Given the description of an element on the screen output the (x, y) to click on. 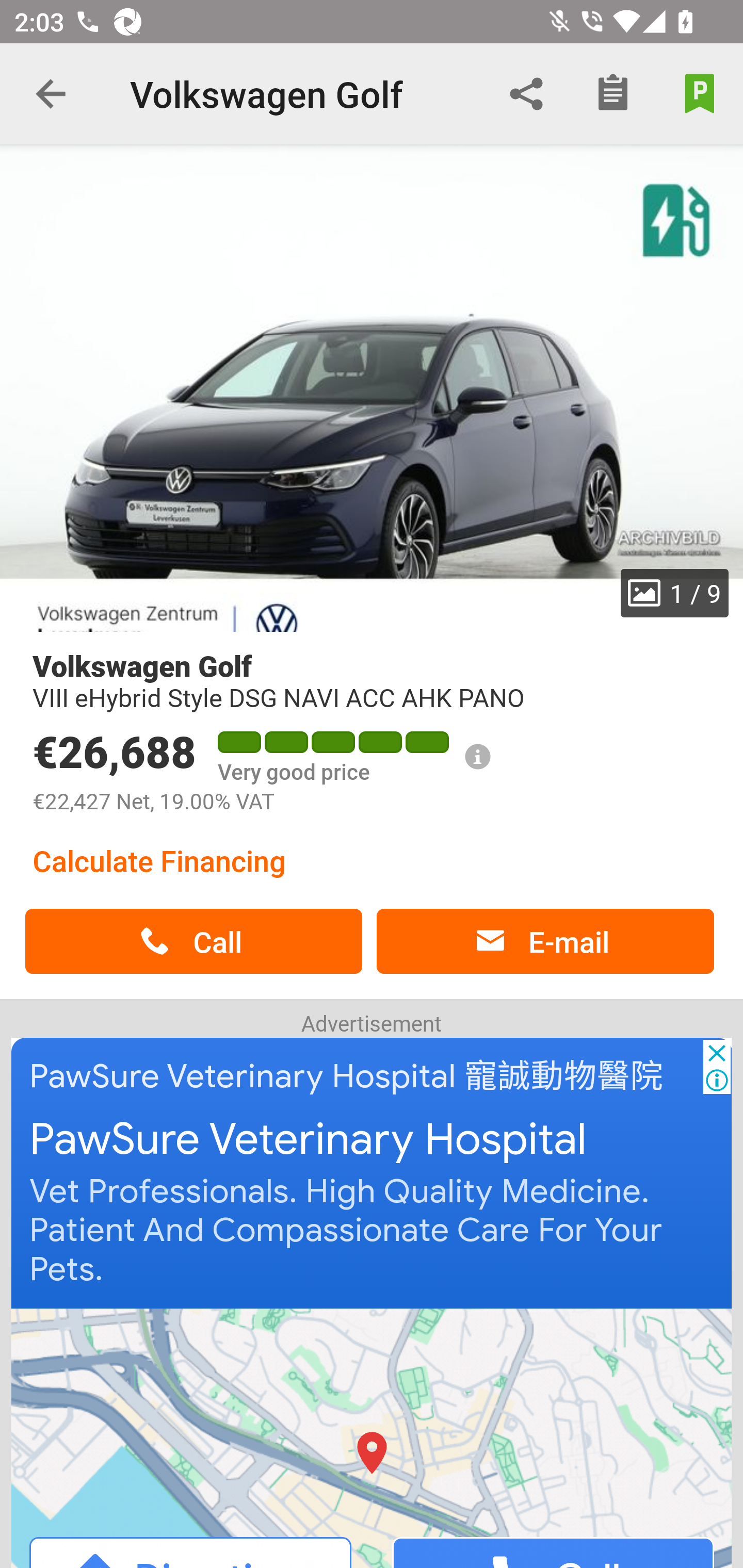
Navigate up (50, 93)
Share via (525, 93)
Checklist (612, 93)
Park (699, 93)
Calculate Financing (159, 859)
Call (193, 941)
E-mail (545, 941)
PawSure Veterinary Hospital 寵誠動物醫院 (346, 1076)
PawSure Veterinary Hospital (307, 1139)
Directions Call Directions Call (372, 1437)
